Given the description of an element on the screen output the (x, y) to click on. 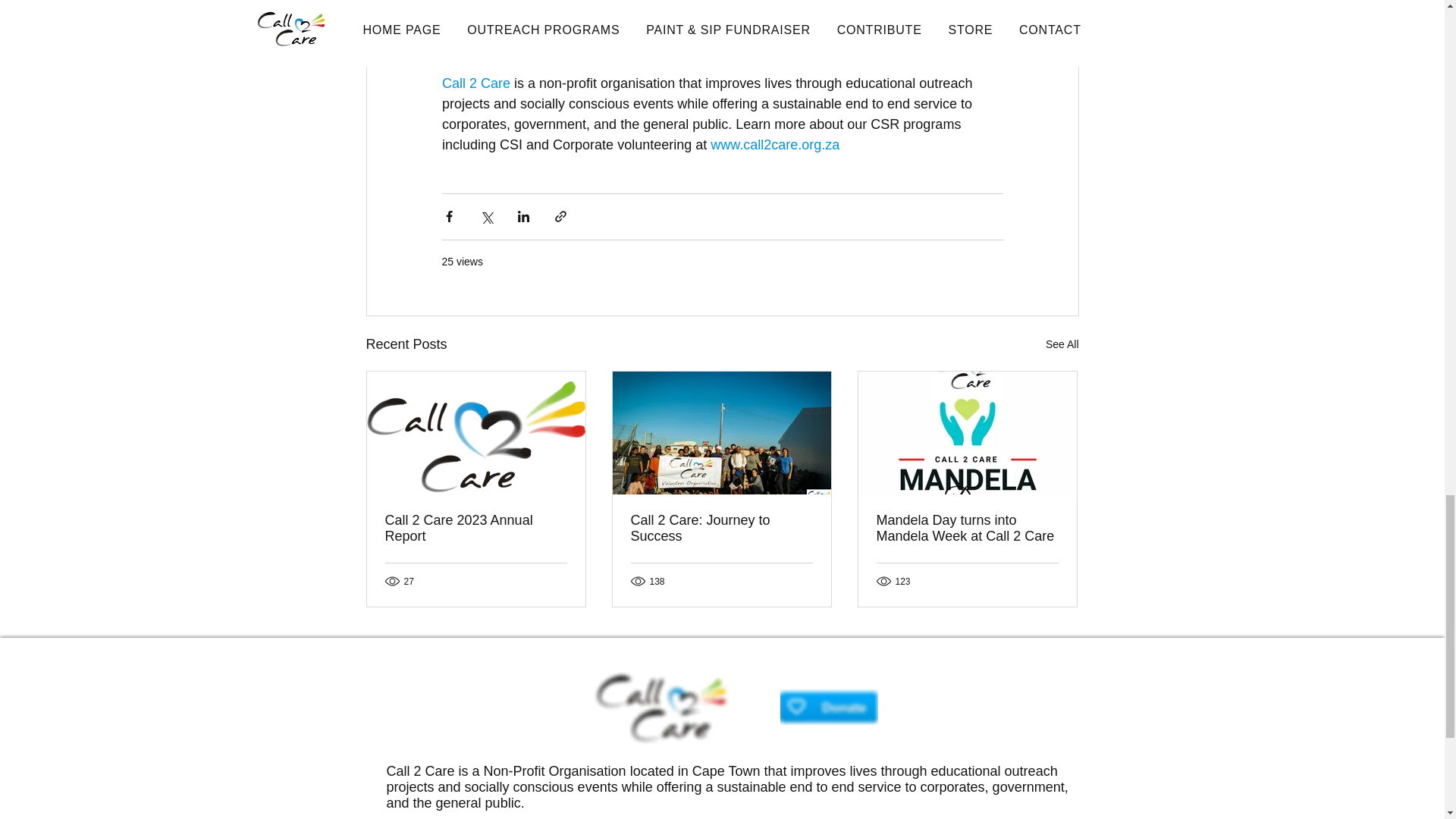
Call 2 Care (475, 83)
Call 2 Care - LOGO HIGH RESOLUTION.jpg (662, 706)
www.call2care.org.za (775, 144)
